Given the description of an element on the screen output the (x, y) to click on. 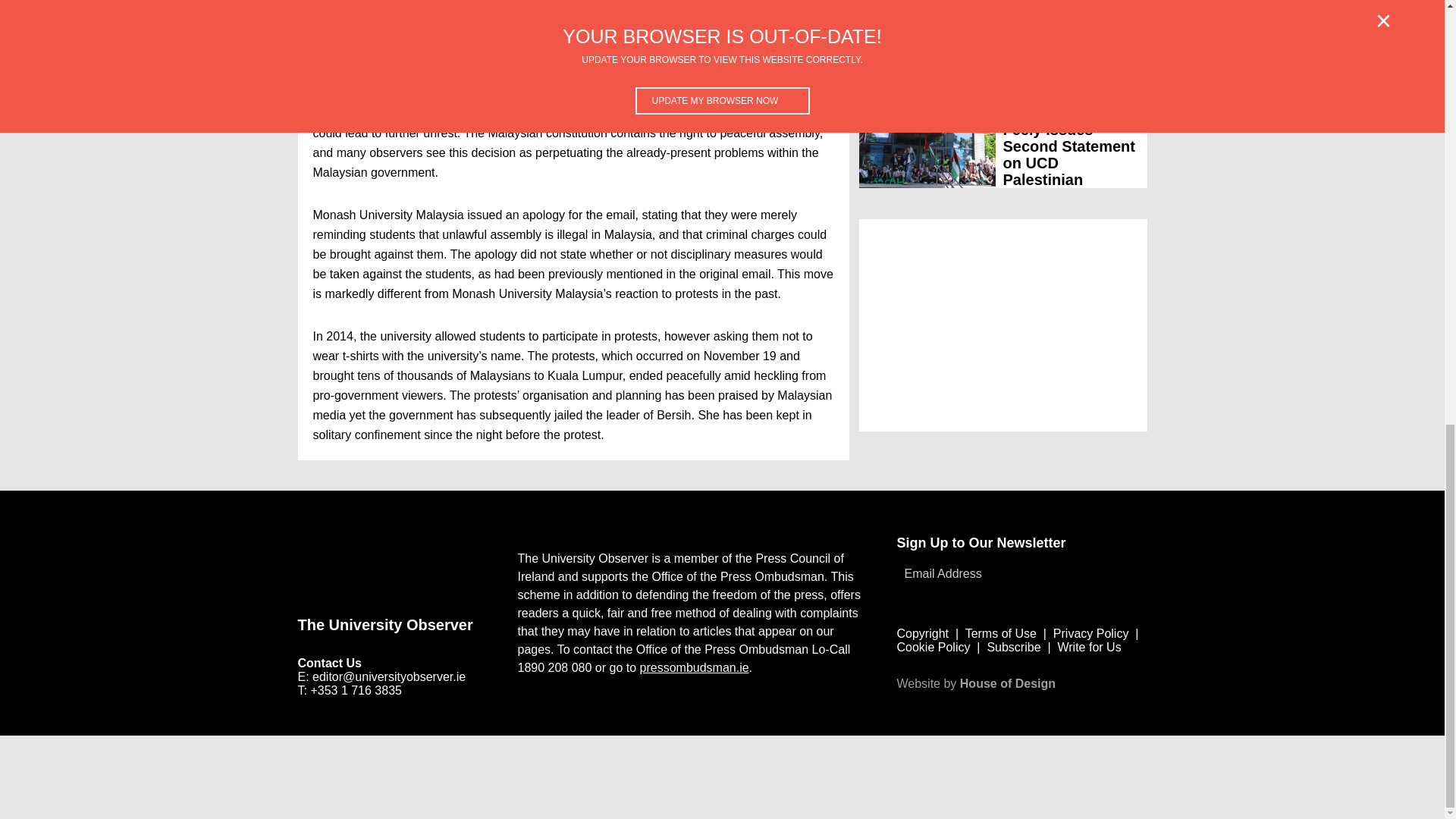
Advertisement (1003, 325)
Advertisement (455, 776)
